Given the description of an element on the screen output the (x, y) to click on. 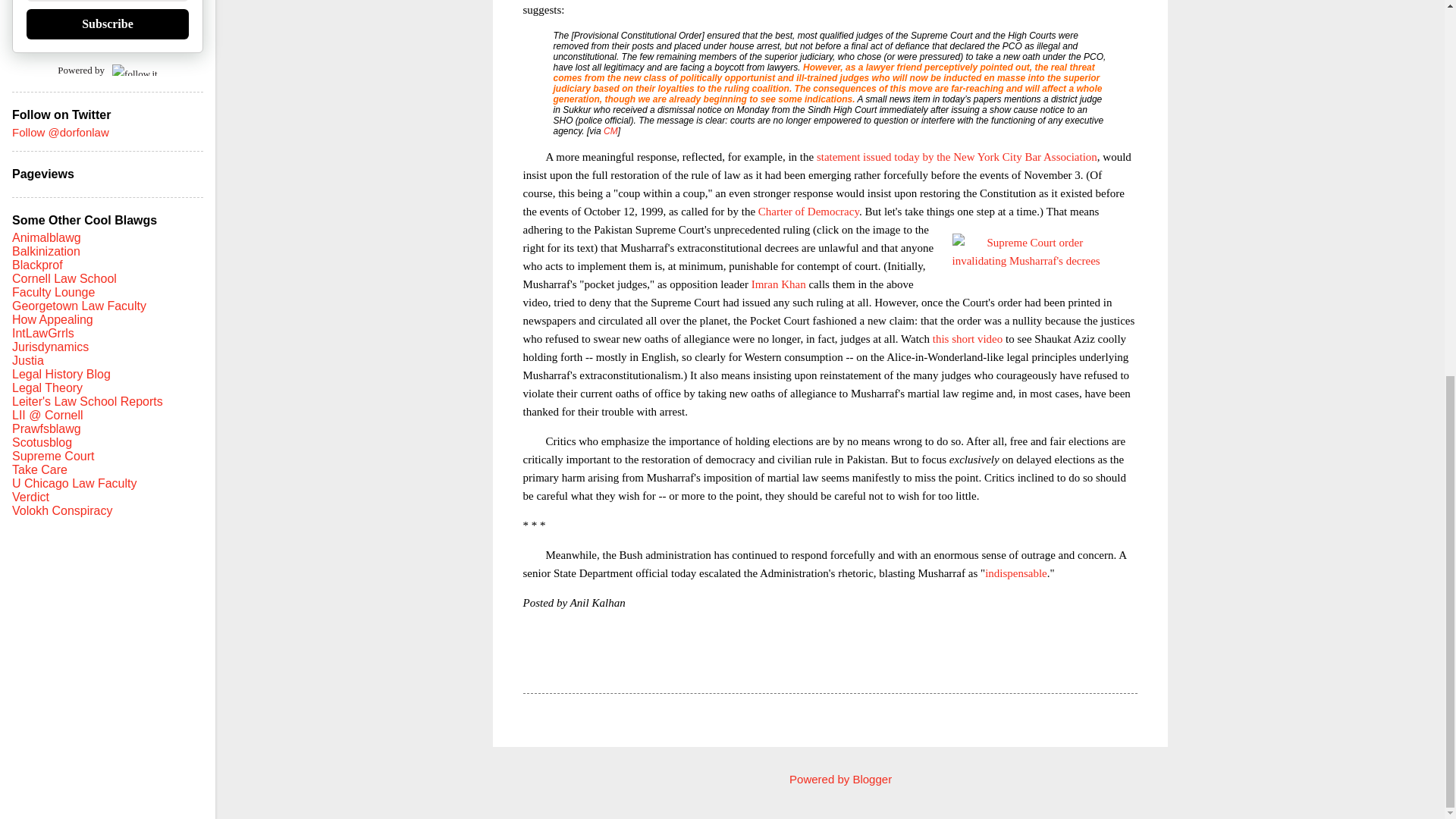
Supreme Court order invalidating Musharraf's decrees (1043, 251)
this short video (968, 337)
Powered by Blogger (829, 779)
CM (610, 131)
Email Post (562, 666)
University students protest in Lahore, Nov 7, 2007 (1020, 2)
Imran Khan (778, 283)
Charter of Democracy (808, 210)
indispensable (1015, 573)
statement issued today by the New York City Bar Association (956, 155)
